Given the description of an element on the screen output the (x, y) to click on. 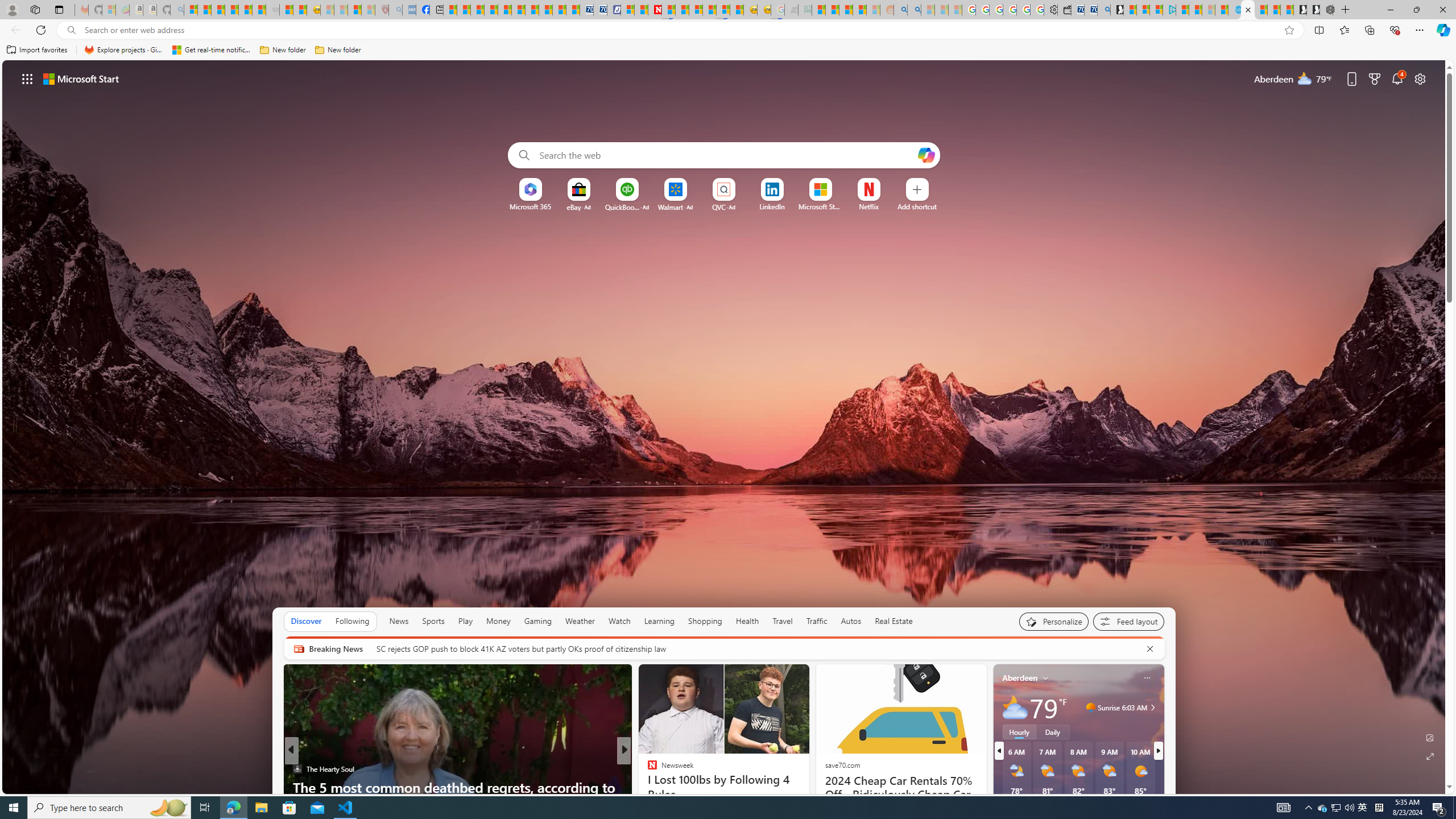
12 Popular Science Lies that Must be Corrected - Sleeping (368, 9)
Feed settings (1128, 621)
